Given the description of an element on the screen output the (x, y) to click on. 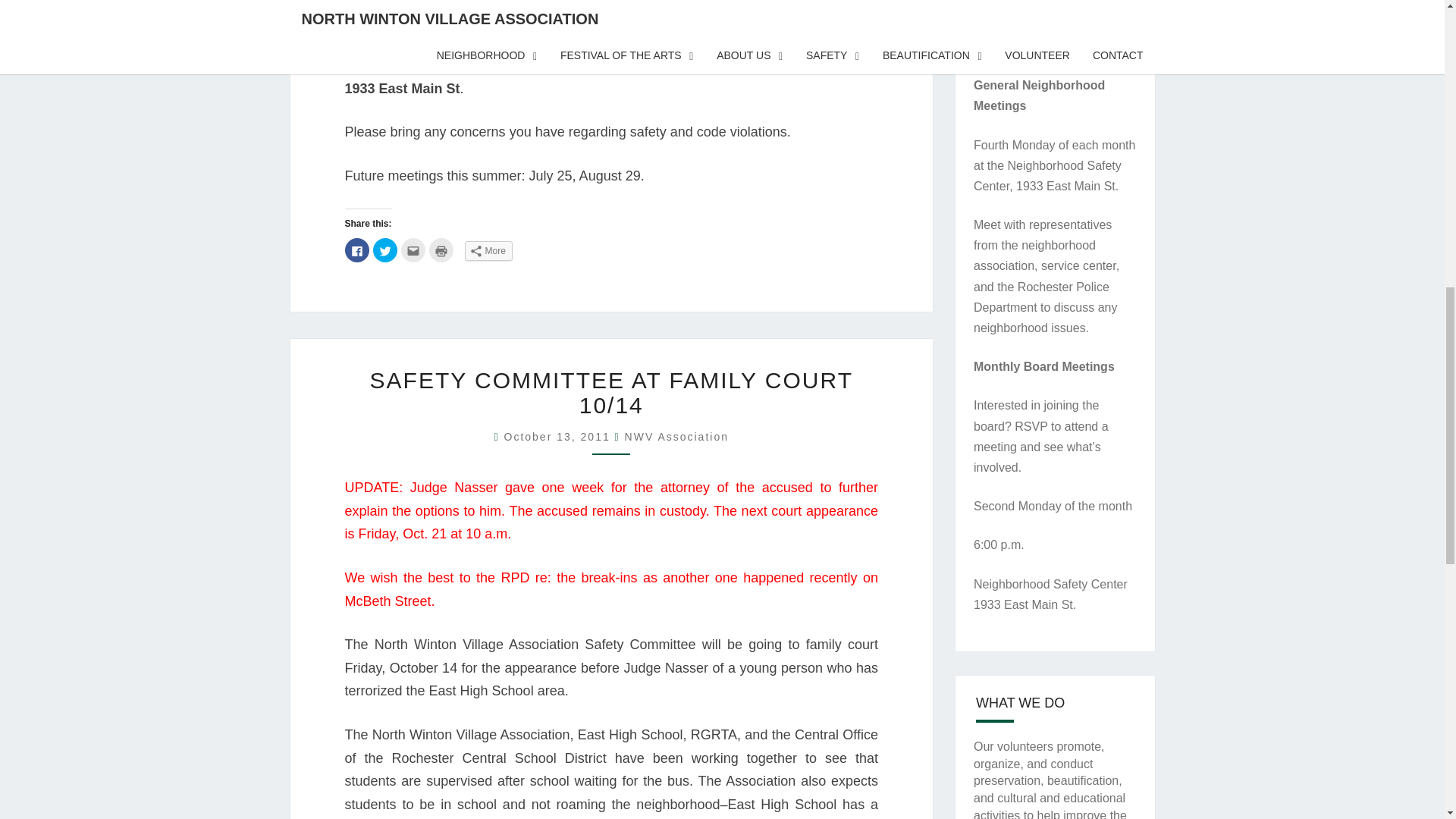
More (488, 250)
